Given the description of an element on the screen output the (x, y) to click on. 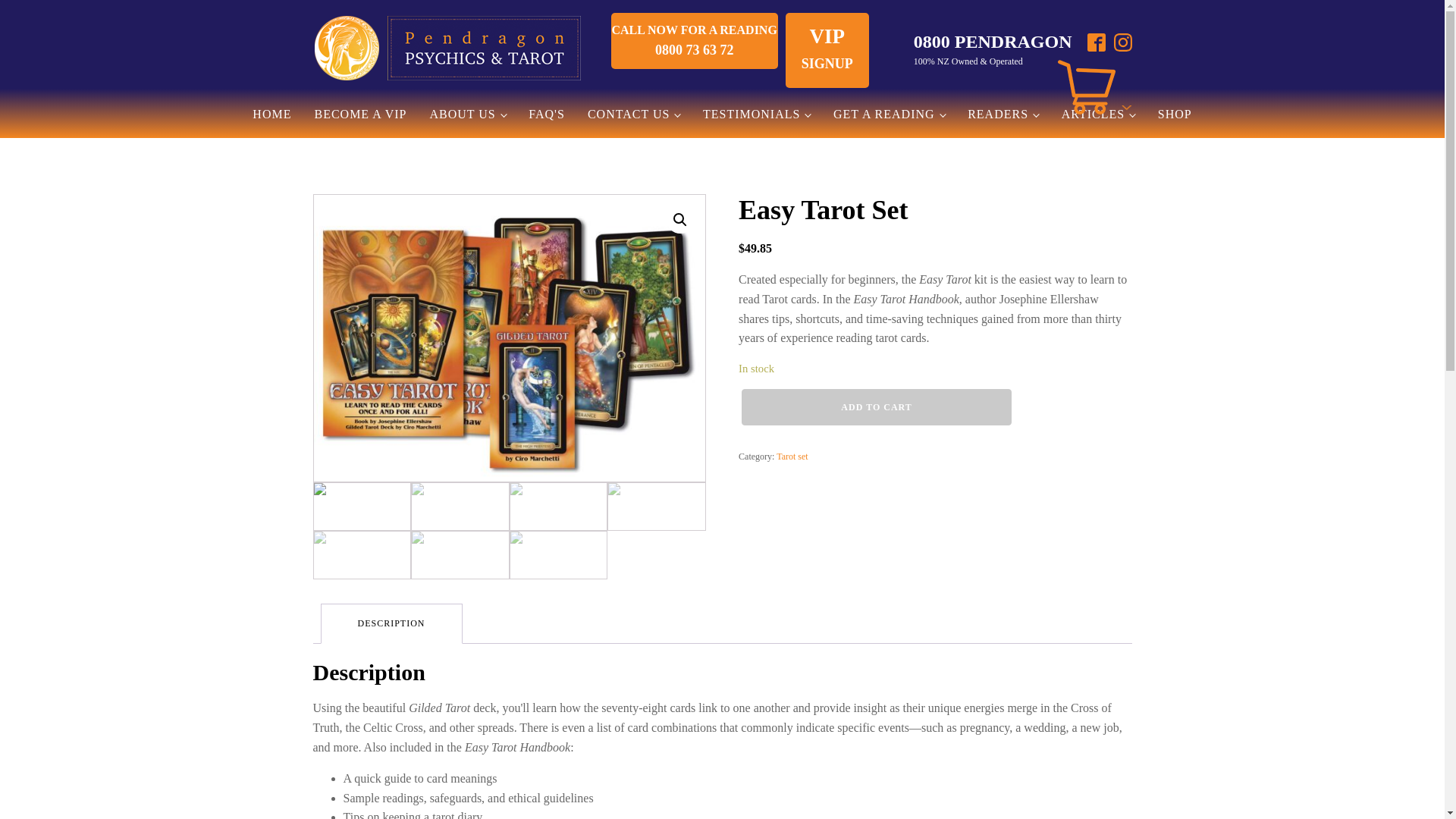
71FFGXoYsQL (509, 338)
